Given the description of an element on the screen output the (x, y) to click on. 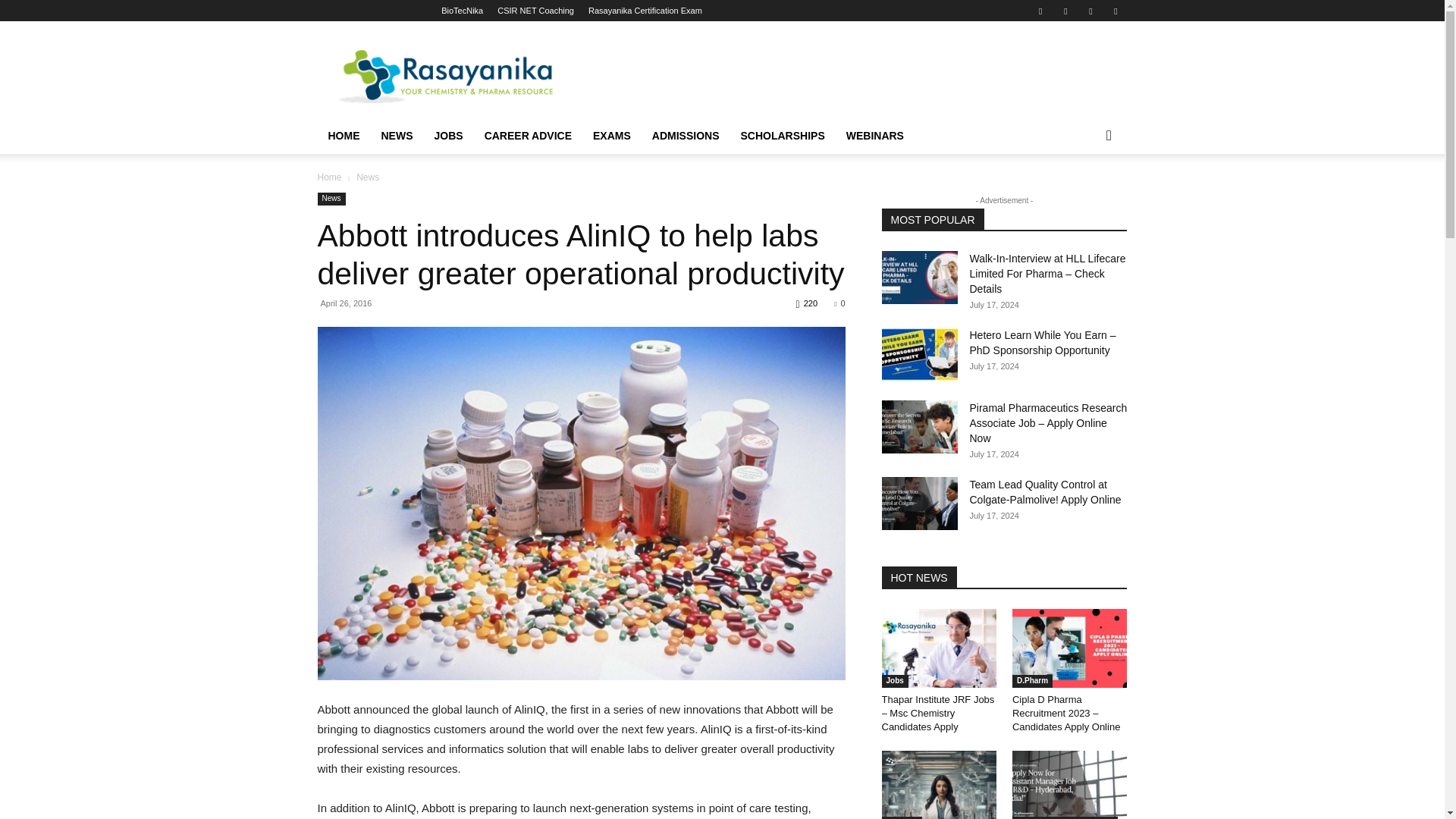
Youtube (1114, 10)
VKontakte (1090, 10)
Twitter (1040, 10)
Vimeo (1065, 10)
